Given the description of an element on the screen output the (x, y) to click on. 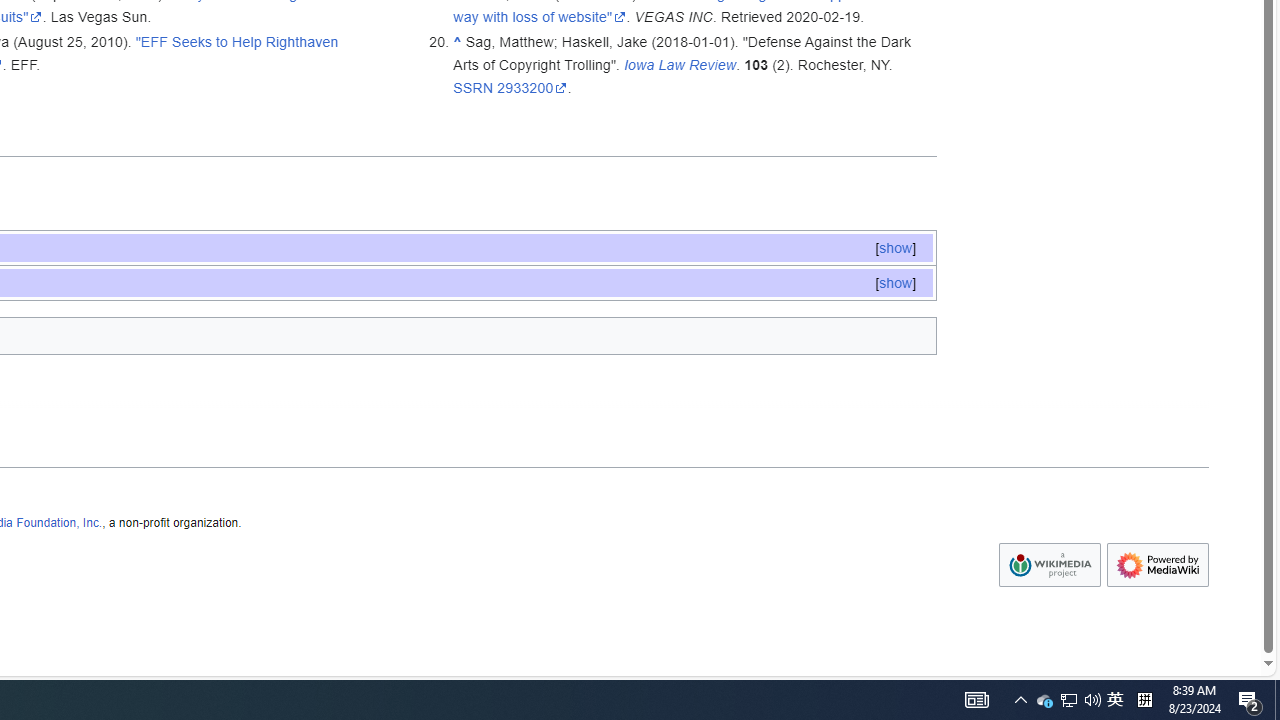
[show] (895, 282)
SSRN (473, 87)
Jump up (457, 41)
AutomationID: footer-poweredbyico (1158, 565)
AutomationID: footer-copyrightico (1049, 565)
Powered by MediaWiki (1158, 565)
Iowa Law Review (680, 64)
2933200 (532, 87)
Powered by MediaWiki (1158, 565)
Wikimedia Foundation (1049, 565)
Wikimedia Foundation (1049, 565)
